Given the description of an element on the screen output the (x, y) to click on. 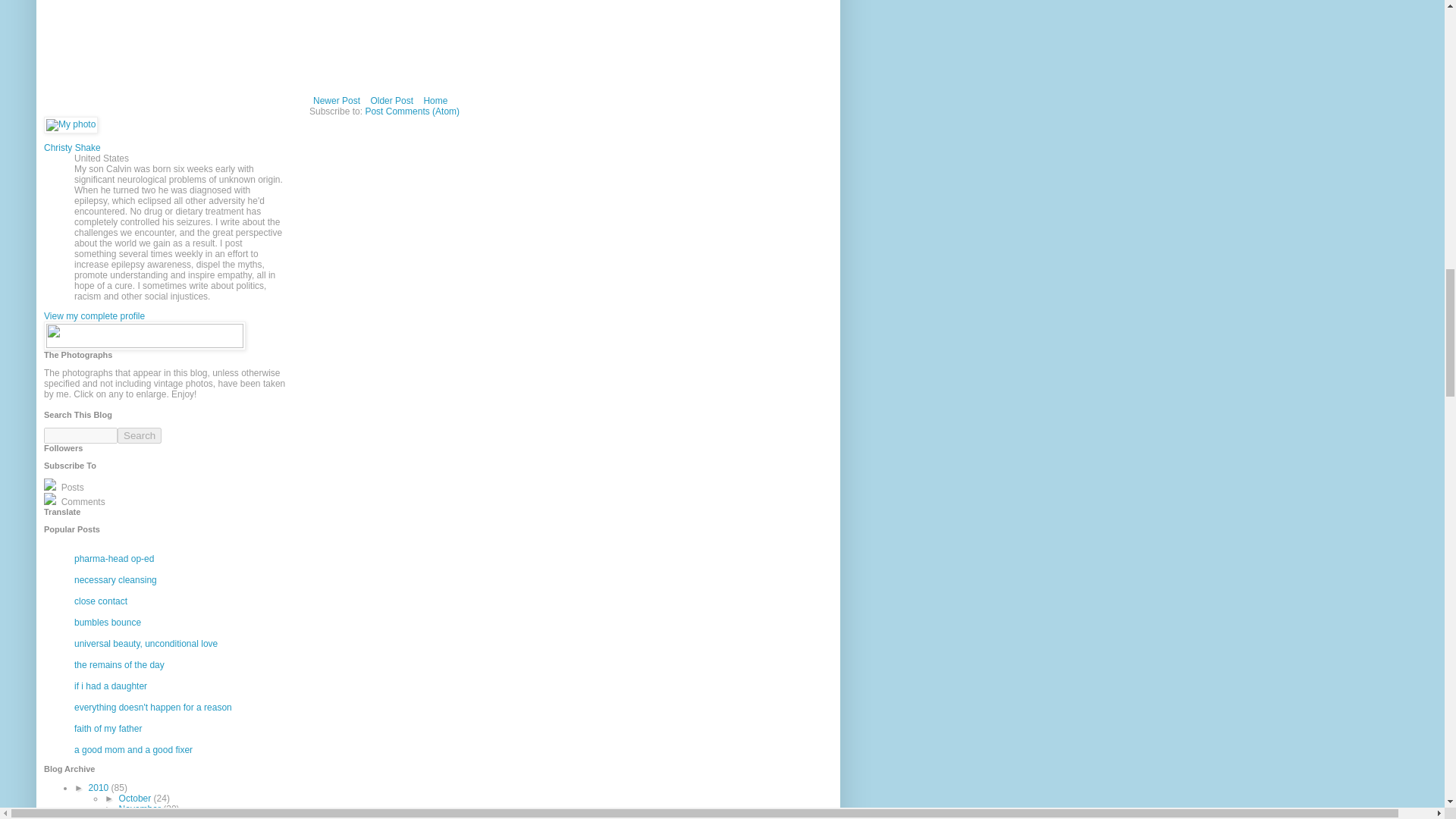
search (80, 435)
Search (139, 435)
Newer Post (336, 100)
search (139, 435)
Christy Shake (71, 147)
Older Post (391, 100)
Older Post (391, 100)
Newer Post (336, 100)
Home (435, 100)
View my complete profile (93, 316)
Search (139, 435)
